Given the description of an element on the screen output the (x, y) to click on. 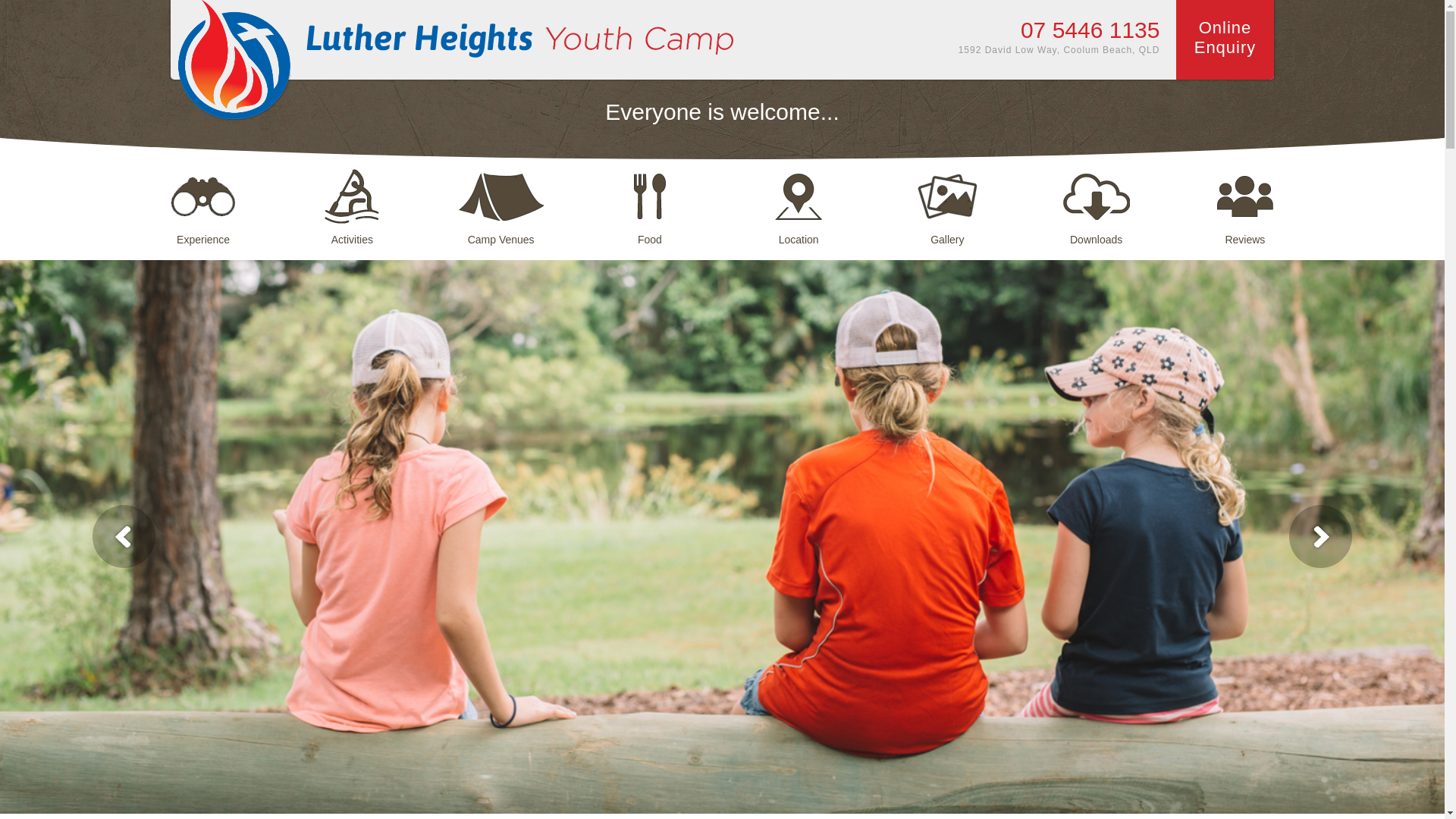
Gallery Element type: text (947, 199)
Activities Element type: text (352, 199)
Location Element type: text (798, 199)
07 5446 1135 Element type: text (1090, 29)
Downloads Element type: text (1096, 199)
Experience Element type: text (202, 199)
Food Element type: text (649, 199)
Online Enquiry Element type: text (1225, 39)
Reviews Element type: text (1244, 199)
Camp Venues Element type: text (500, 199)
